Given the description of an element on the screen output the (x, y) to click on. 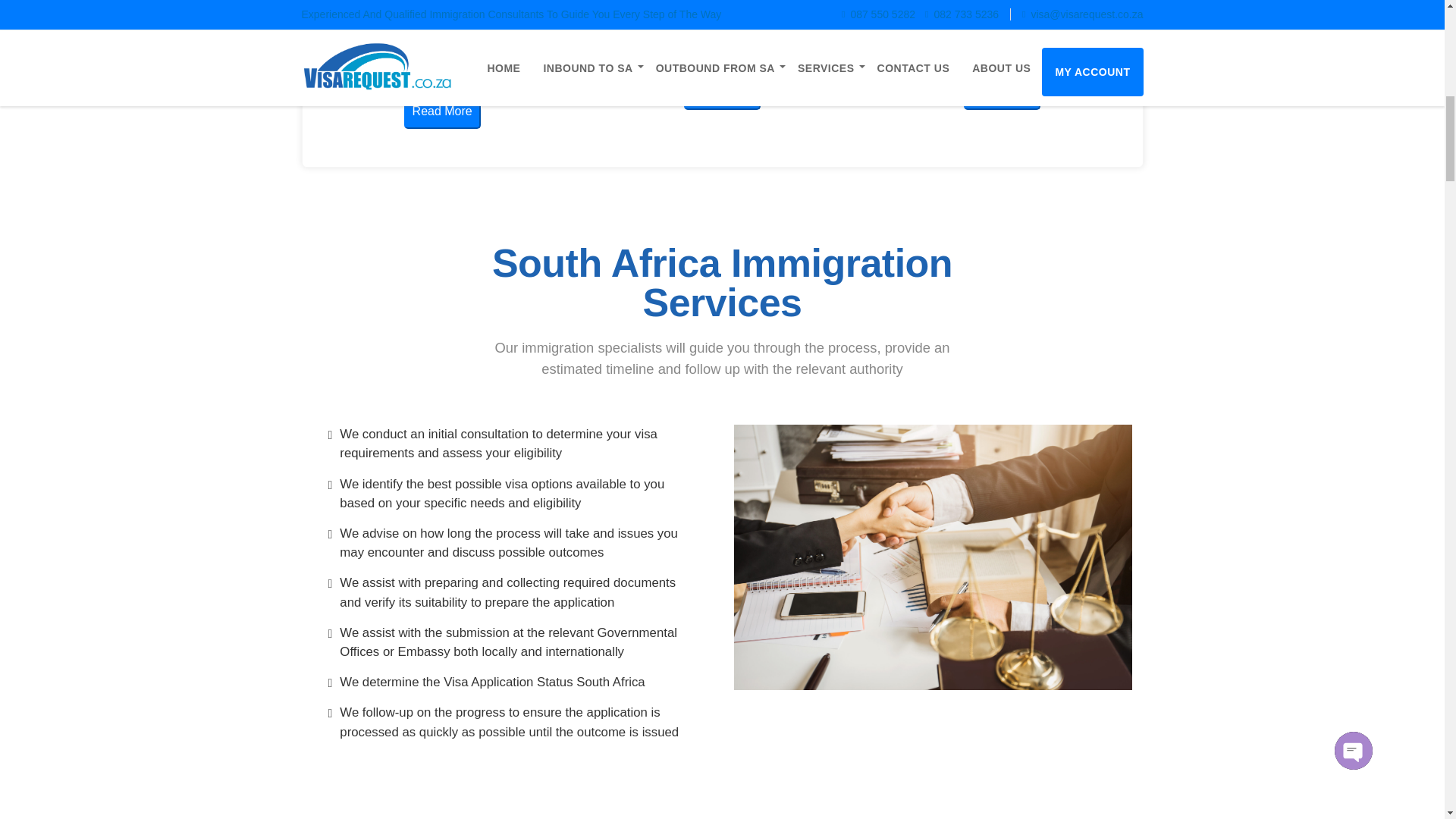
Learn More About It (416, 805)
